Given the description of an element on the screen output the (x, y) to click on. 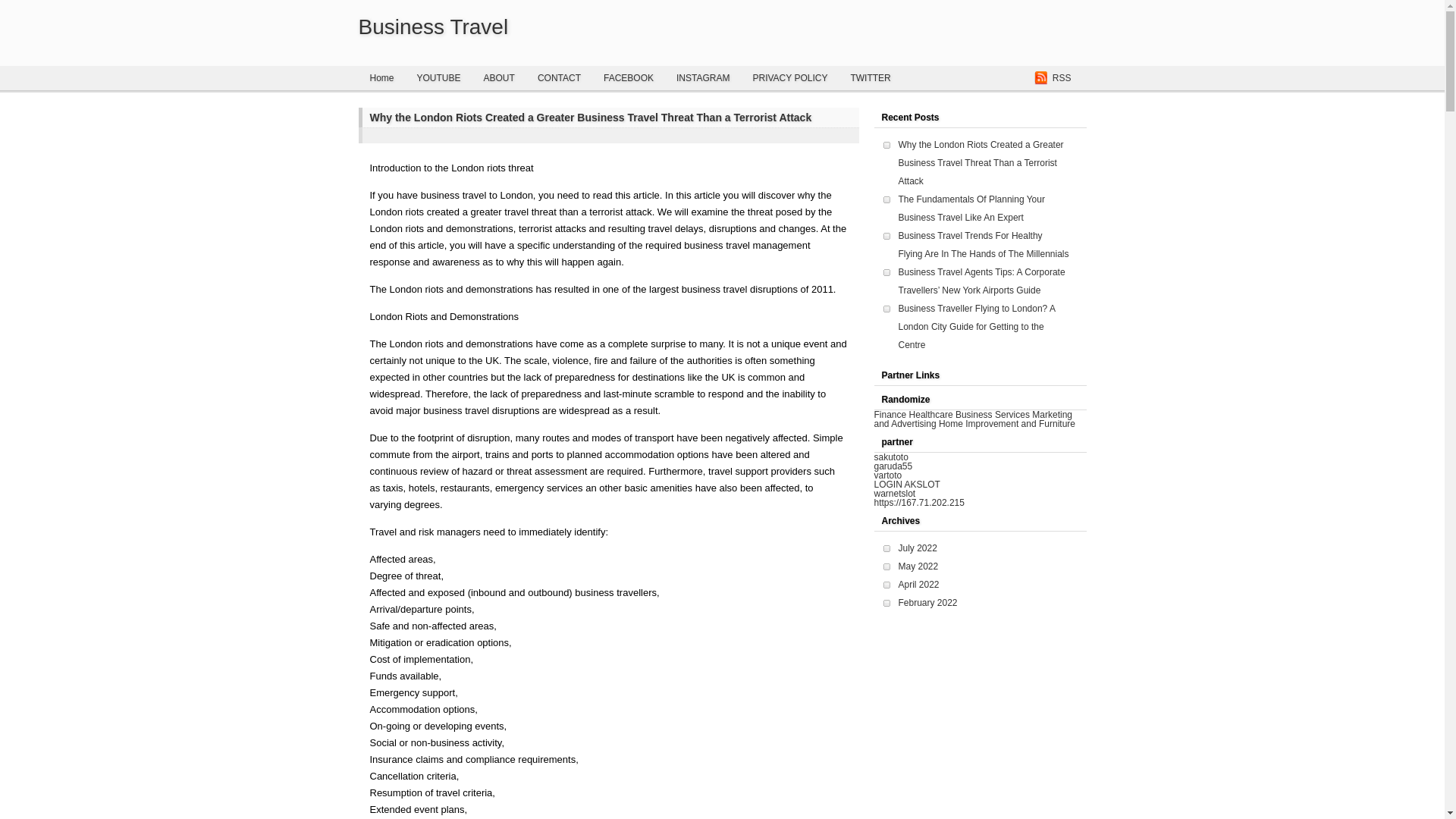
Healthcare (930, 414)
YOUTUBE (438, 78)
CONTACT (558, 78)
Marketing and Advertising (972, 419)
sakutoto (890, 457)
YOUTUBE (438, 78)
ABOUT (498, 78)
Business Services (992, 414)
garuda55 (892, 466)
PRIVACY POLICY (789, 78)
Home (381, 78)
